Given the description of an element on the screen output the (x, y) to click on. 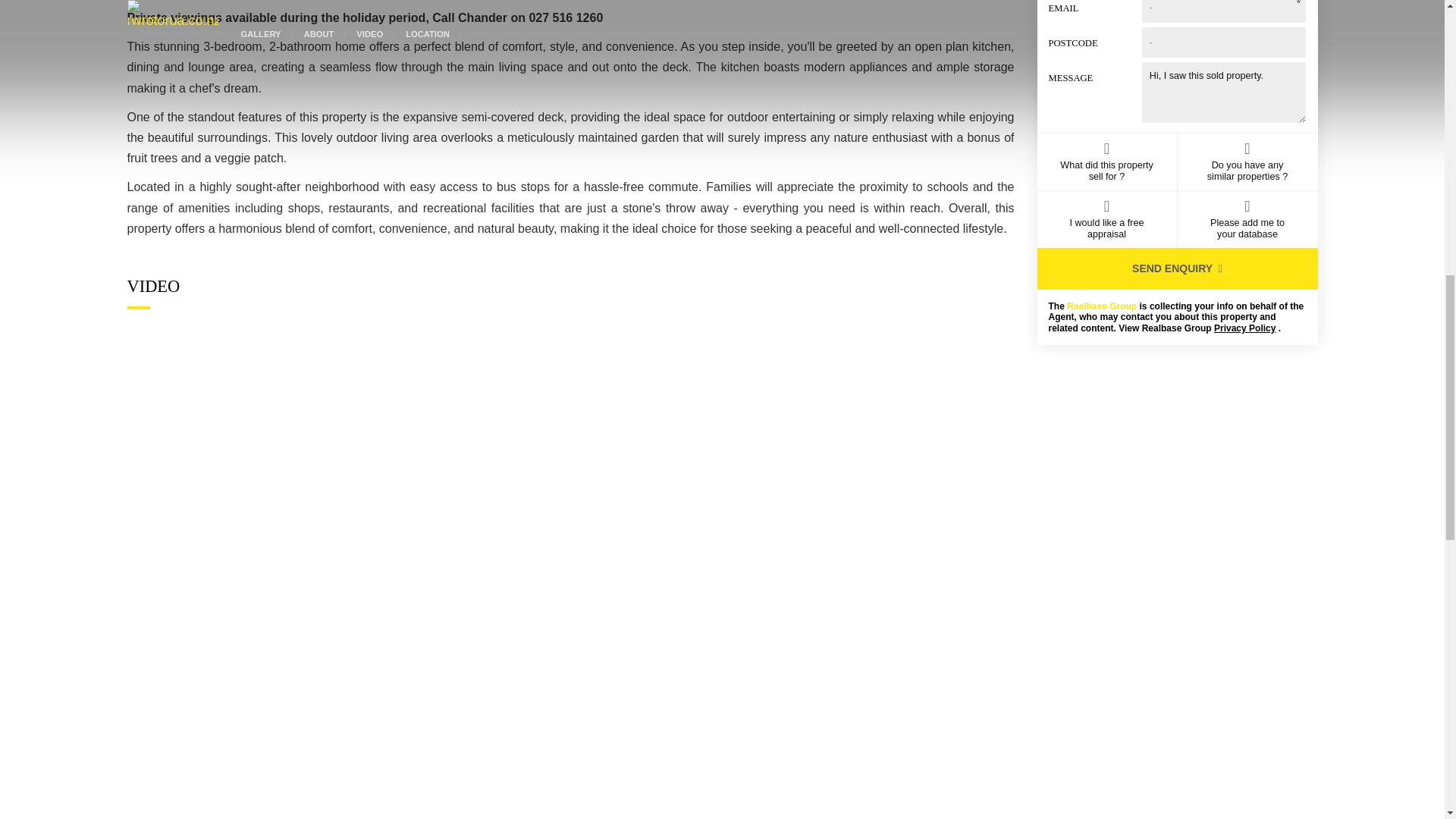
Privacy Policy (1244, 327)
SEND ENQUIRY (1176, 268)
Realbase Group (1102, 306)
Visit www.realbase.io (1102, 306)
